Given the description of an element on the screen output the (x, y) to click on. 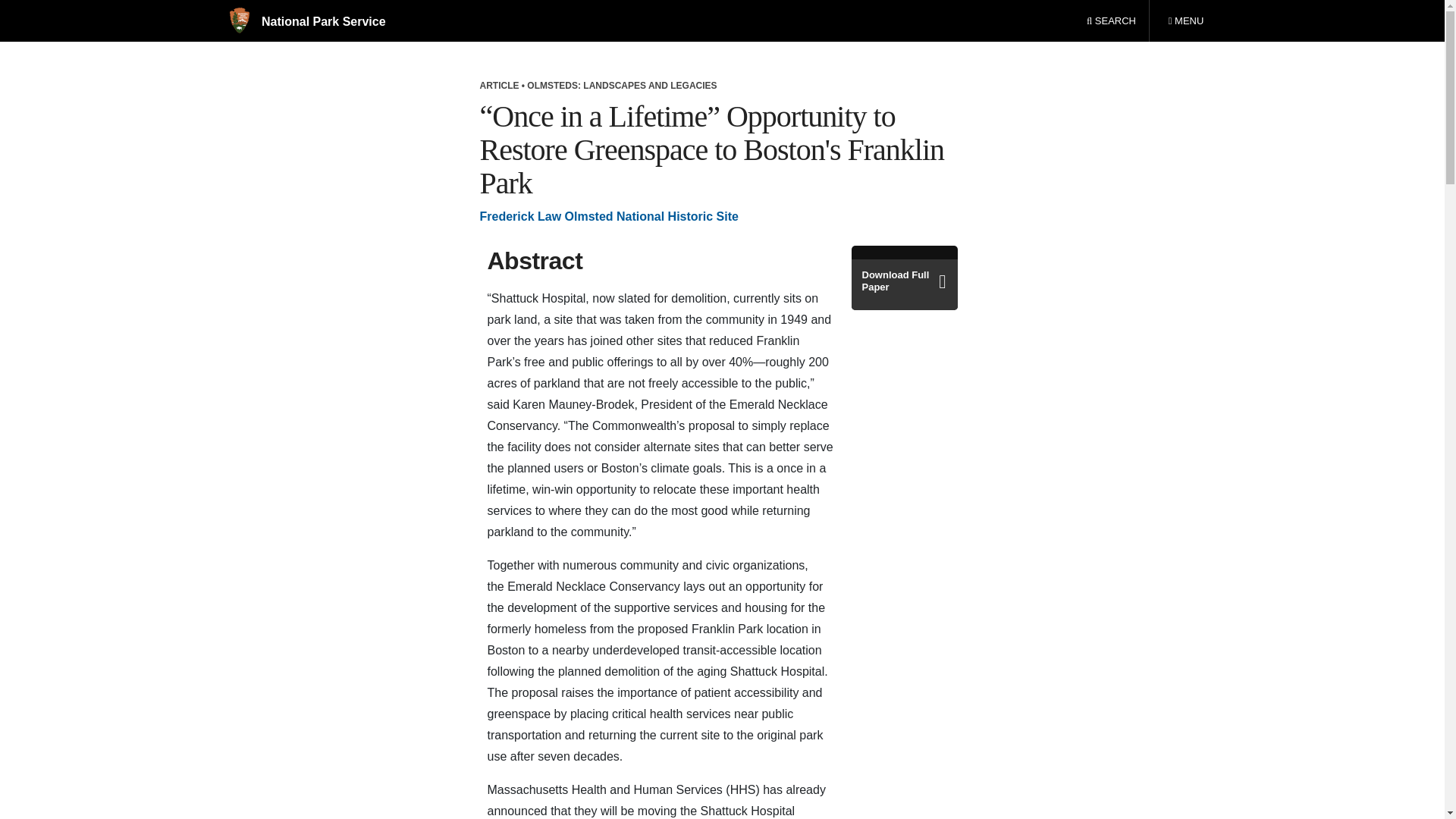
SEARCH (1111, 20)
Frederick Law Olmsted National Historic Site (608, 215)
National Park Service (307, 20)
Download Full Paper (903, 280)
